Given the description of an element on the screen output the (x, y) to click on. 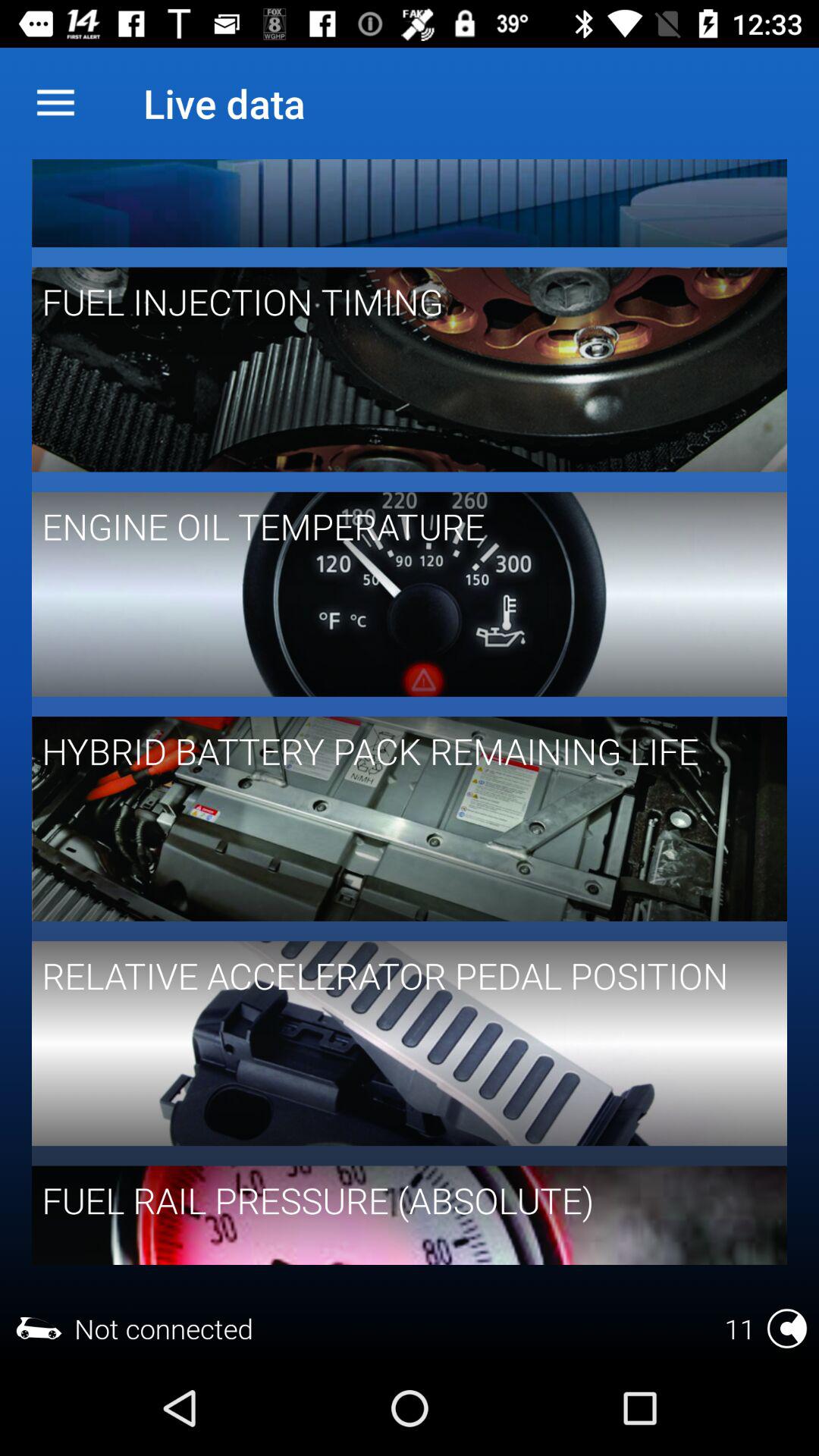
turn off hybrid battery pack item (398, 750)
